Given the description of an element on the screen output the (x, y) to click on. 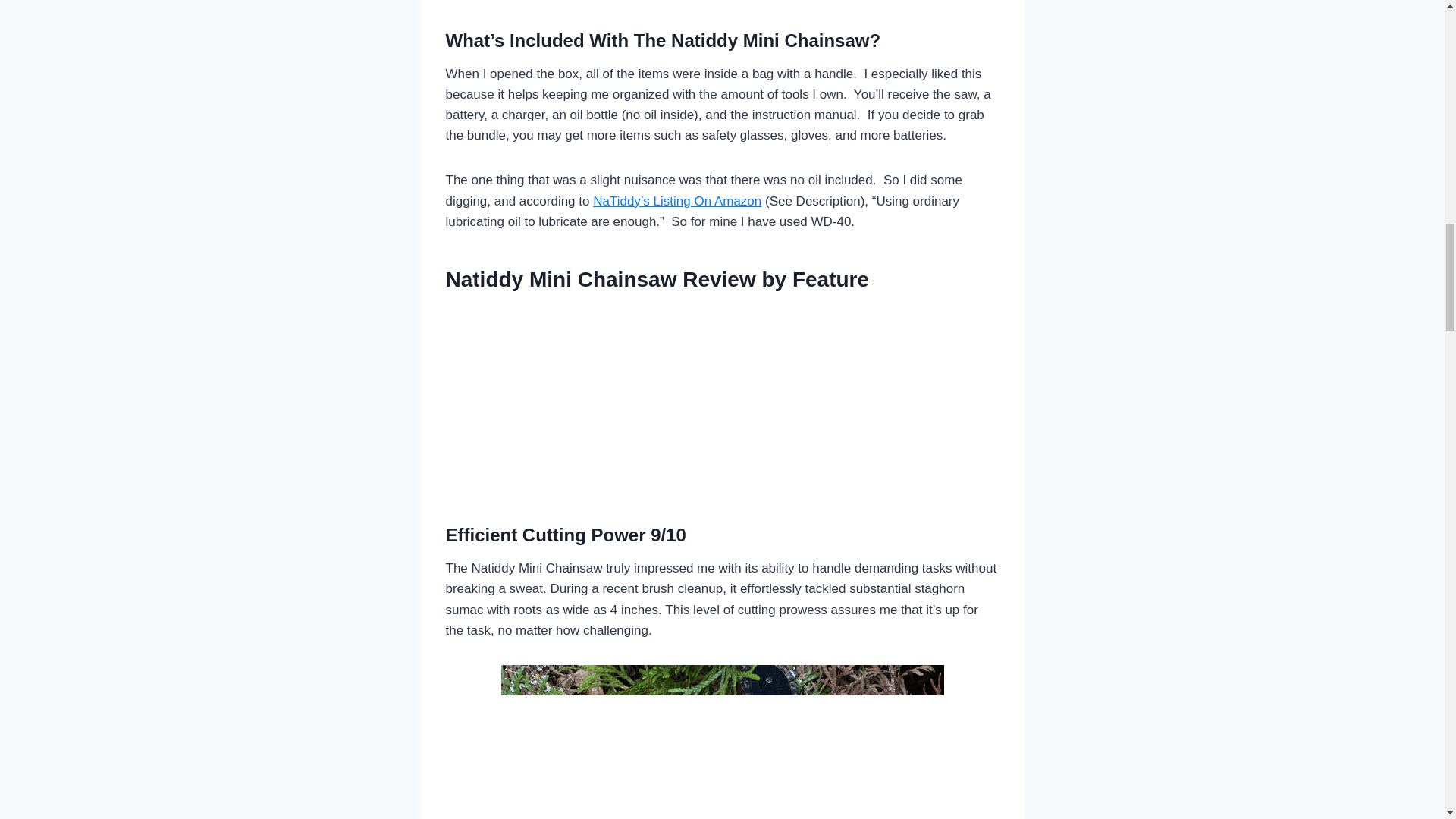
natiddy mini chainsaw (721, 742)
